Given the description of an element on the screen output the (x, y) to click on. 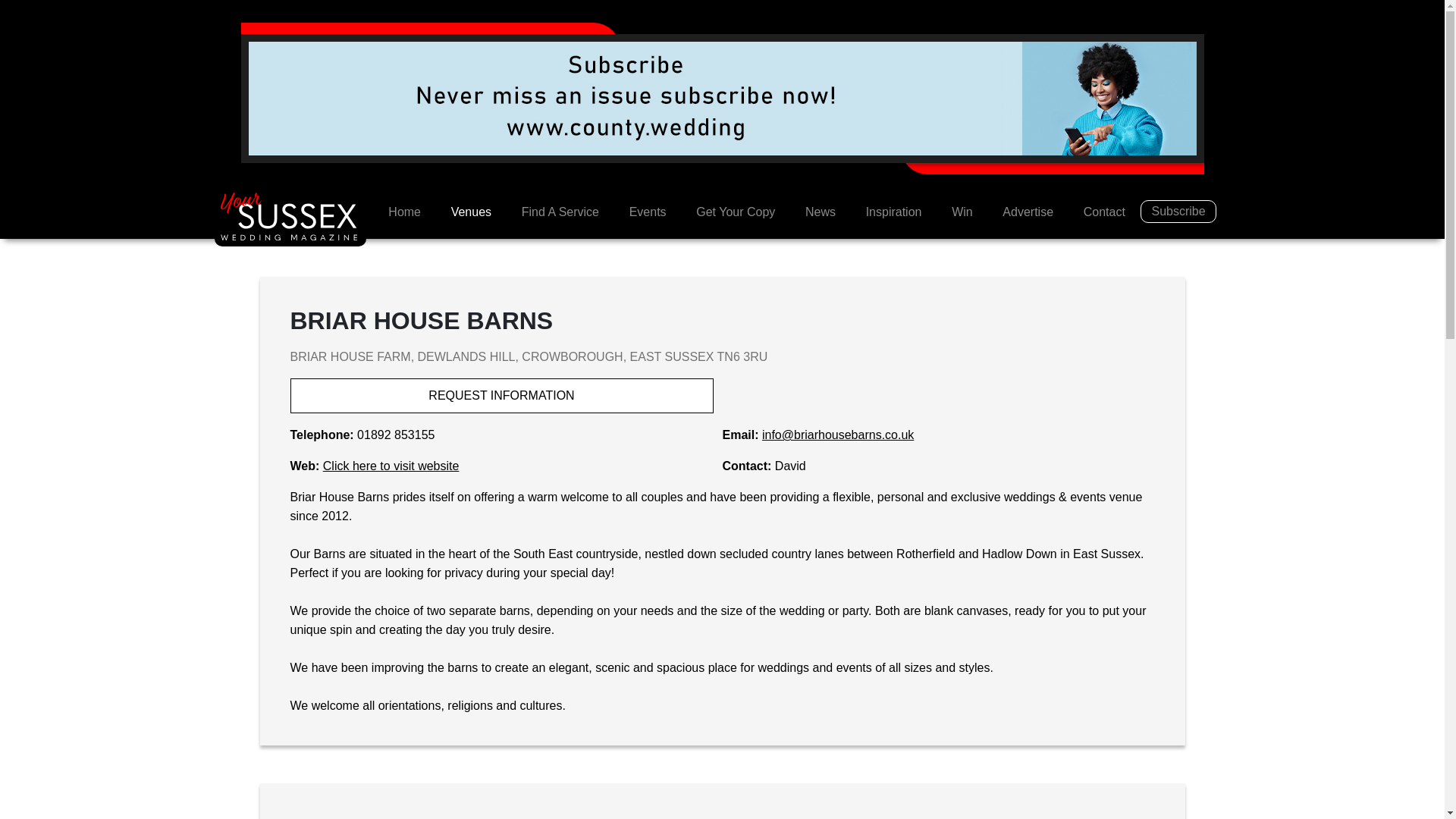
Get Your Copy (735, 212)
Upcoming wedding fayres, shows and events (647, 212)
Inspiration (893, 212)
Be inspired by Your Sussex Wedding magazine (893, 212)
REQUEST INFORMATION (501, 395)
Subscribe to Your Sussex Wedding magazine for free (1178, 210)
Contact the team at Your Sussex Wedding magazine (1104, 212)
Email Briar House Barns (837, 434)
Visit the Briar House Barns website (391, 465)
News (820, 212)
Click here to visit website (391, 465)
Find A Service (560, 212)
Find your dream wedding venue in Sussex (470, 212)
Check out the latest news from Your Sussex Wedding magazine (820, 212)
Advertise with Your Sussex Wedding magazine (1028, 212)
